Given the description of an element on the screen output the (x, y) to click on. 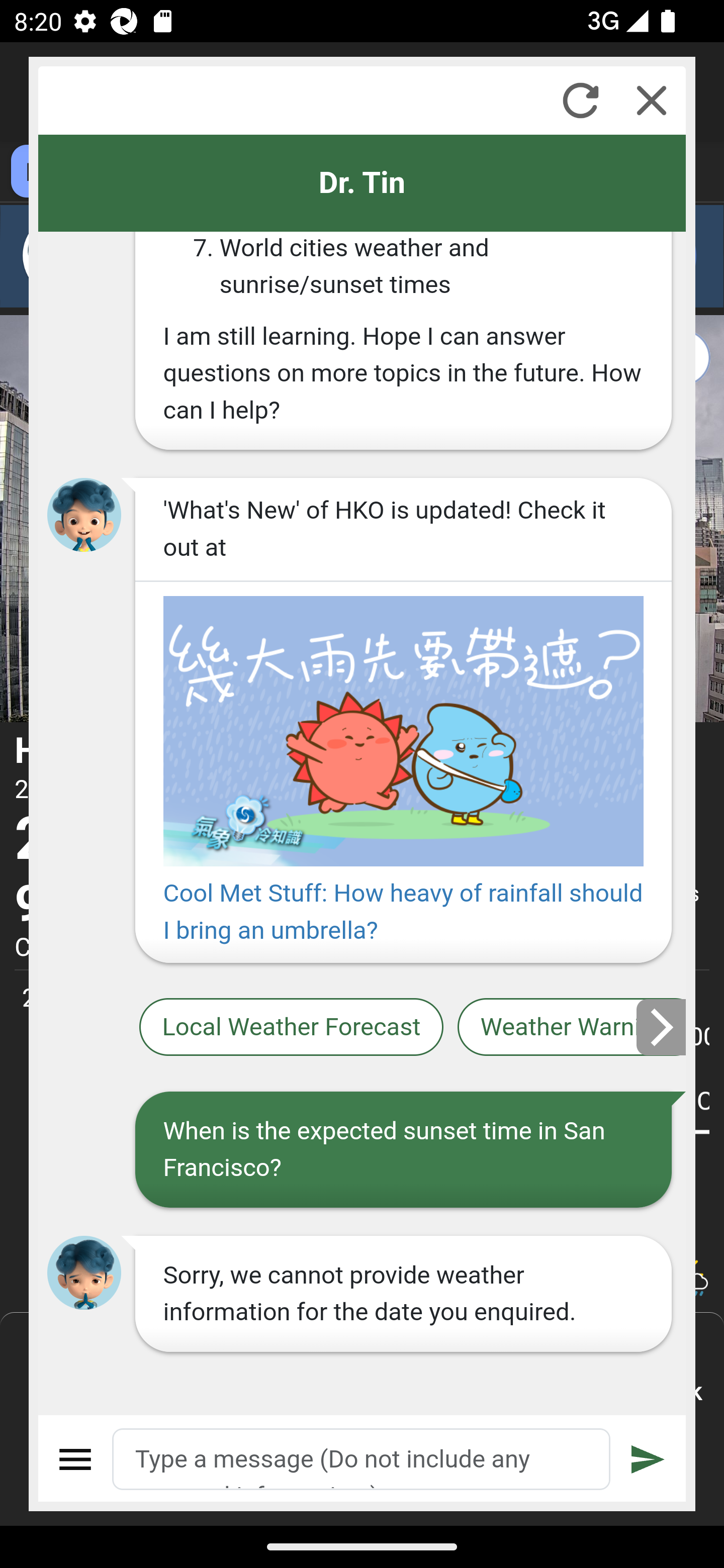
Refresh (580, 100)
Close (651, 100)
Local Weather Forecast (291, 1026)
Weather Warnings (571, 1026)
Next slide (661, 1027)
Menu (75, 1458)
Submit (648, 1458)
